Given the description of an element on the screen output the (x, y) to click on. 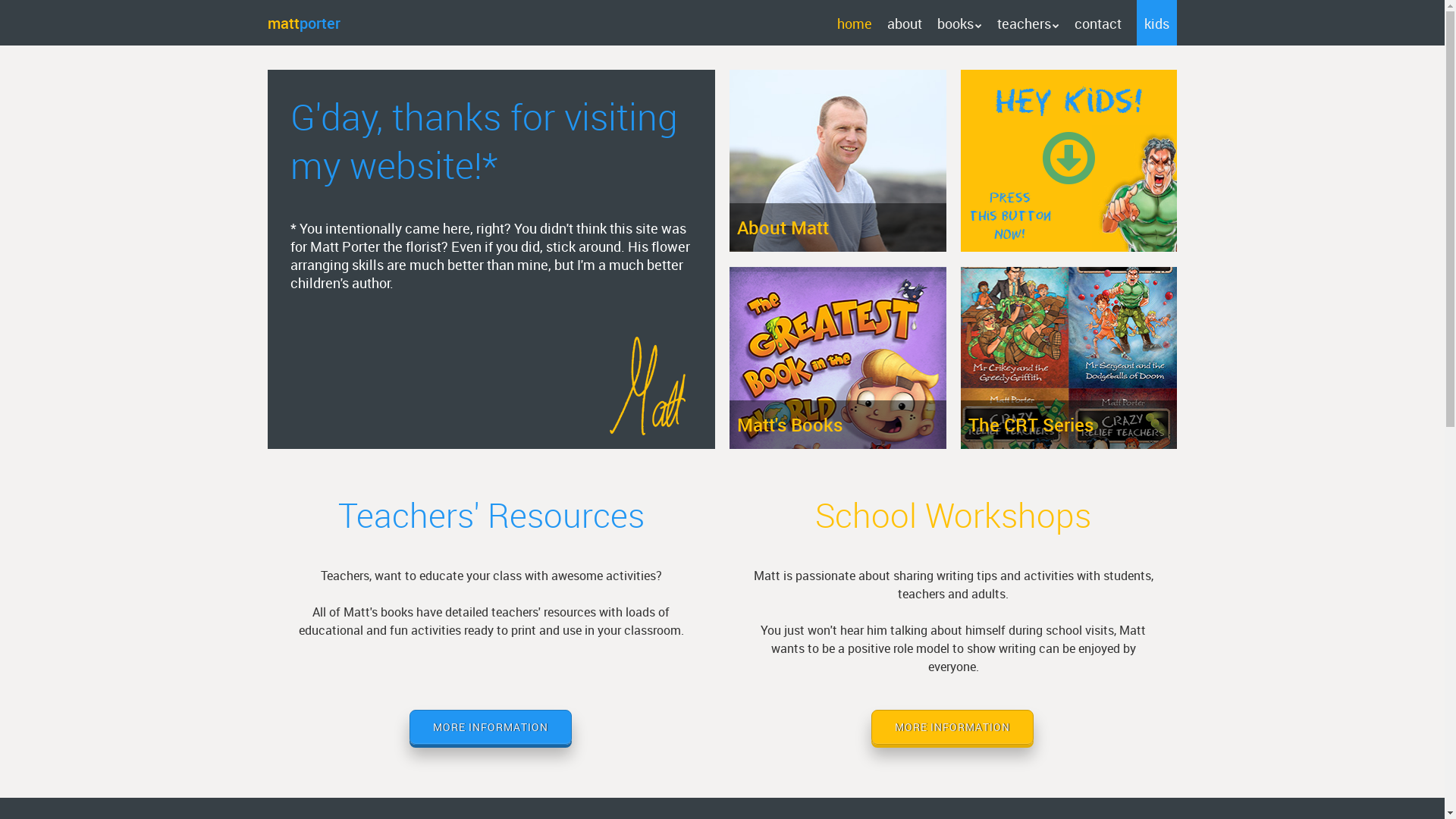
kids Element type: text (1156, 23)
Skip to content Element type: text (863, 22)
MORE INFORMATION Element type: text (952, 726)
contact Element type: text (1097, 23)
home Element type: text (854, 23)
about Element type: text (904, 23)
mattporter Element type: text (302, 22)
MORE INFORMATION Element type: text (490, 726)
teachers Element type: text (1028, 23)
books Element type: text (959, 23)
